Given the description of an element on the screen output the (x, y) to click on. 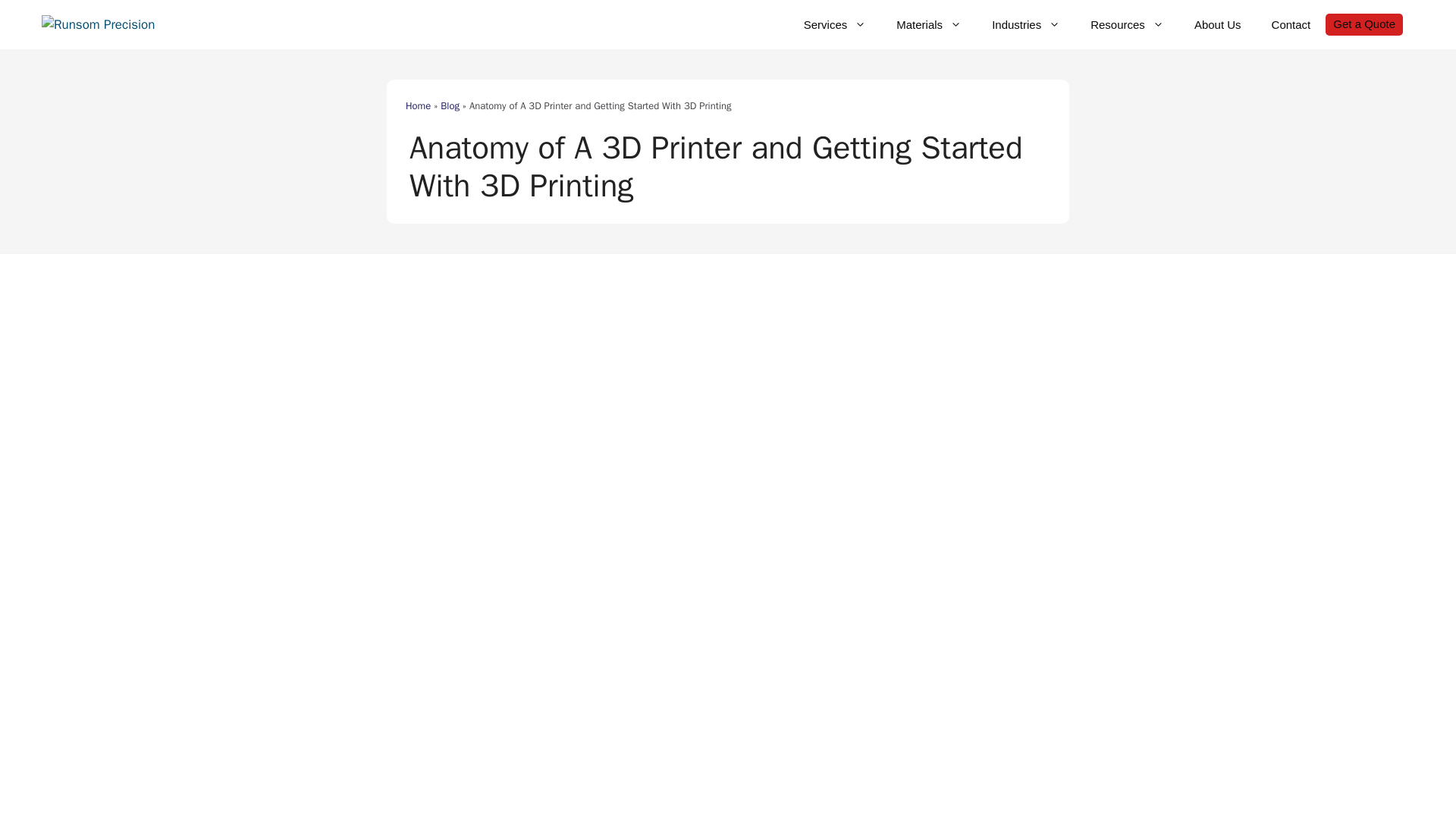
Services (835, 24)
Industries (1025, 24)
Materials (928, 24)
